Given the description of an element on the screen output the (x, y) to click on. 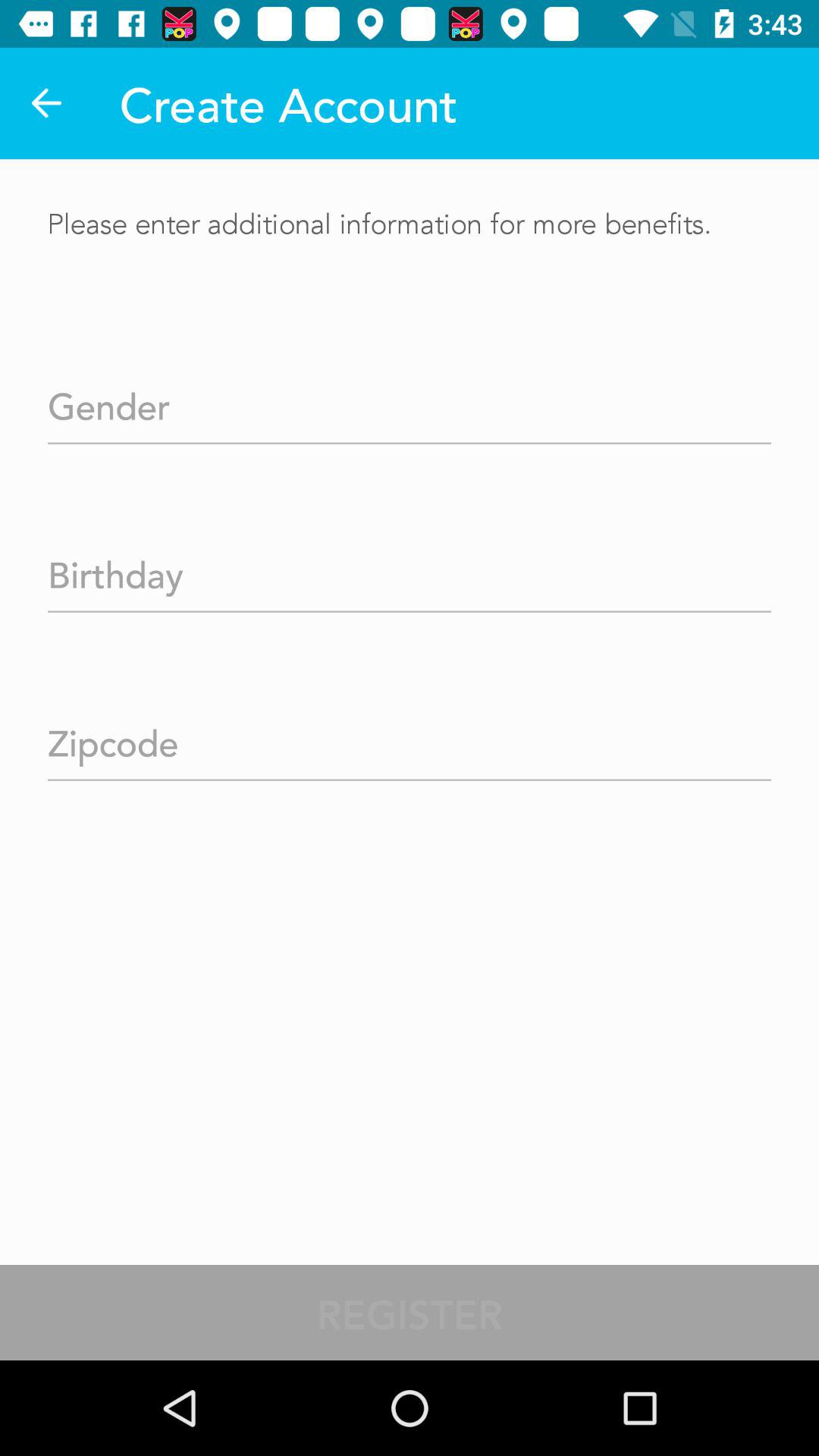
select gender (409, 401)
